Given the description of an element on the screen output the (x, y) to click on. 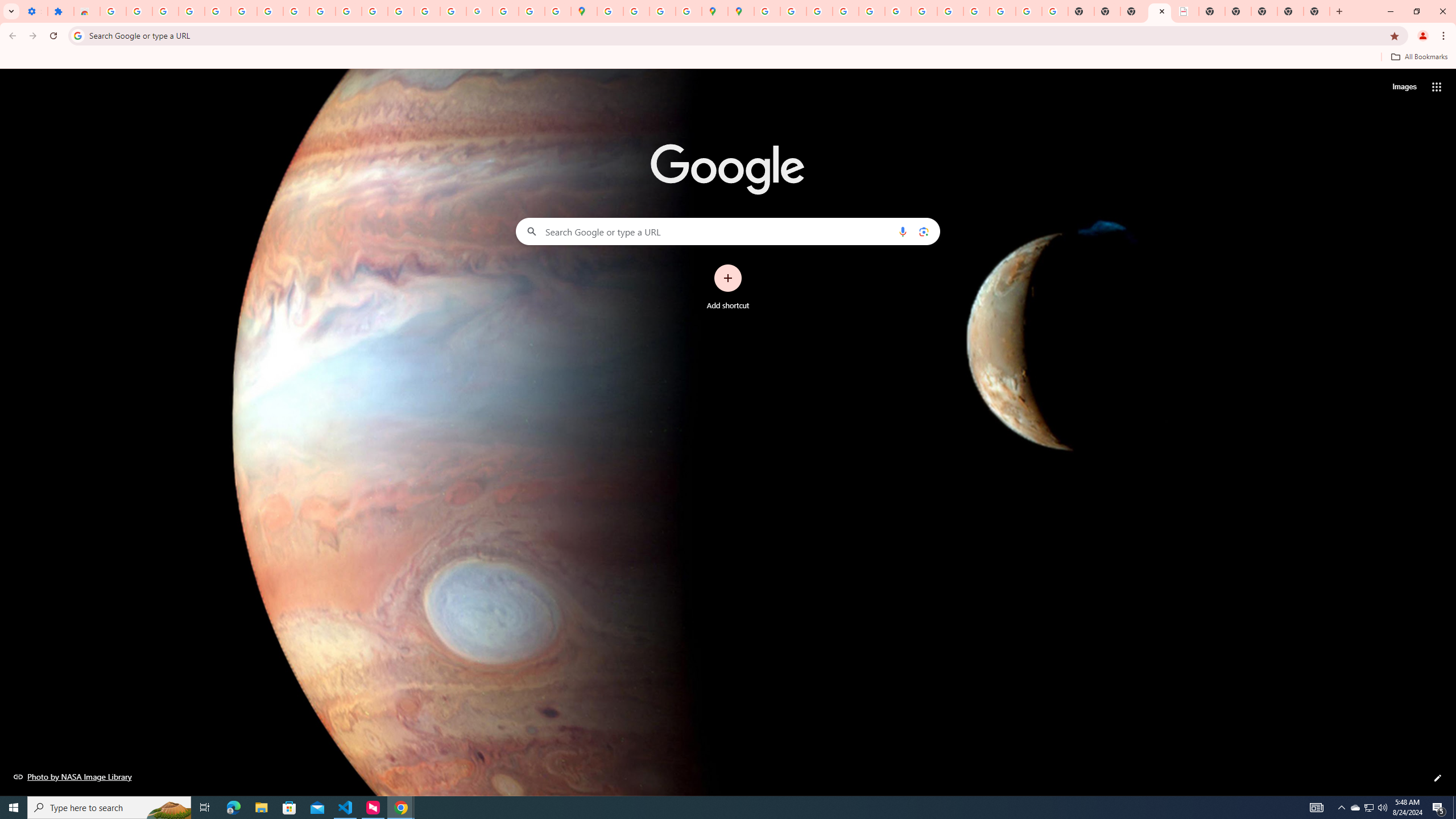
YouTube (322, 11)
Settings - On startup (34, 11)
